Given the description of an element on the screen output the (x, y) to click on. 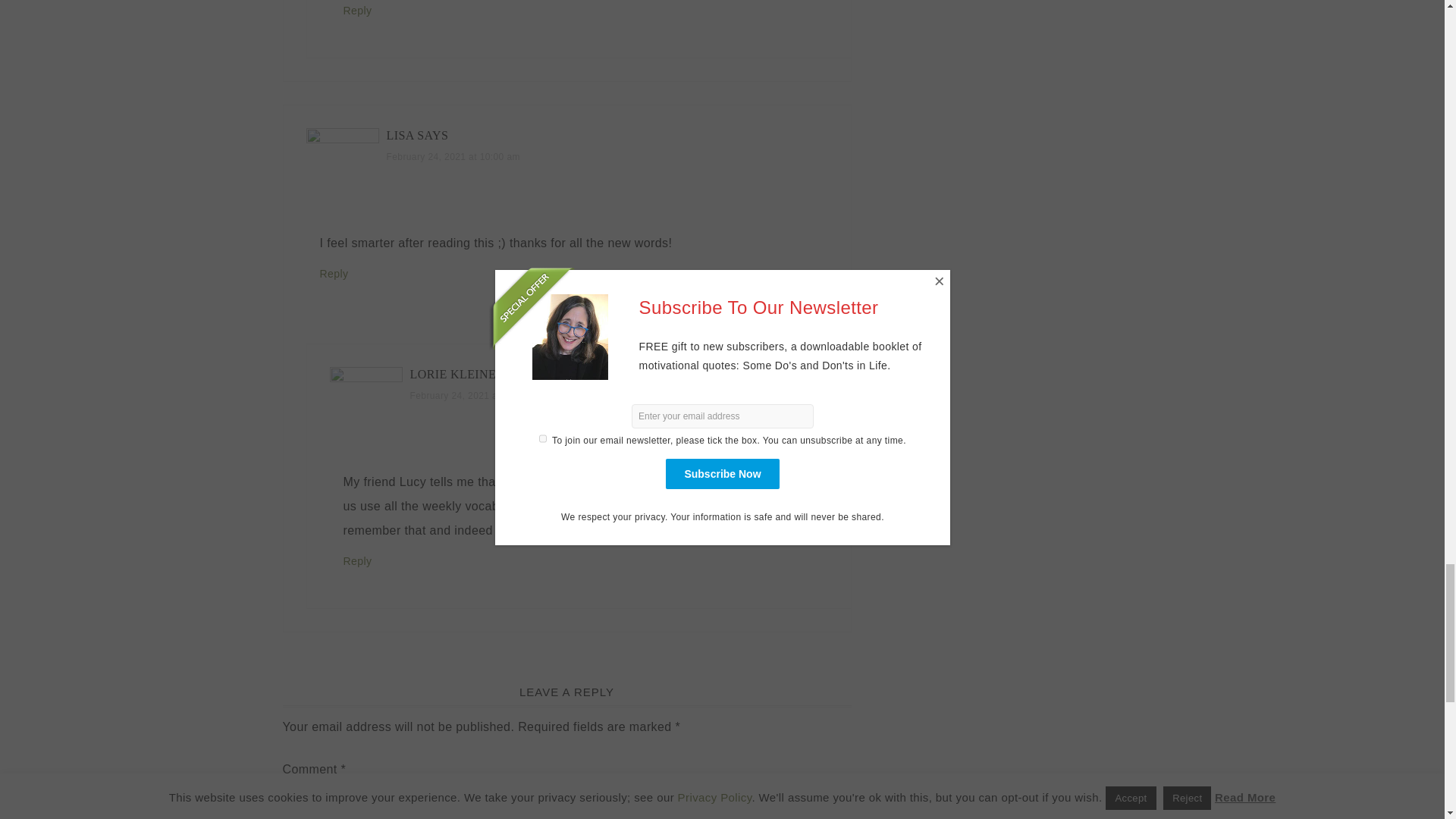
February 24, 2021 at 12:43 pm (476, 395)
Reply (334, 273)
Reply (356, 10)
February 24, 2021 at 10:00 am (453, 156)
Reply (356, 561)
